Given the description of an element on the screen output the (x, y) to click on. 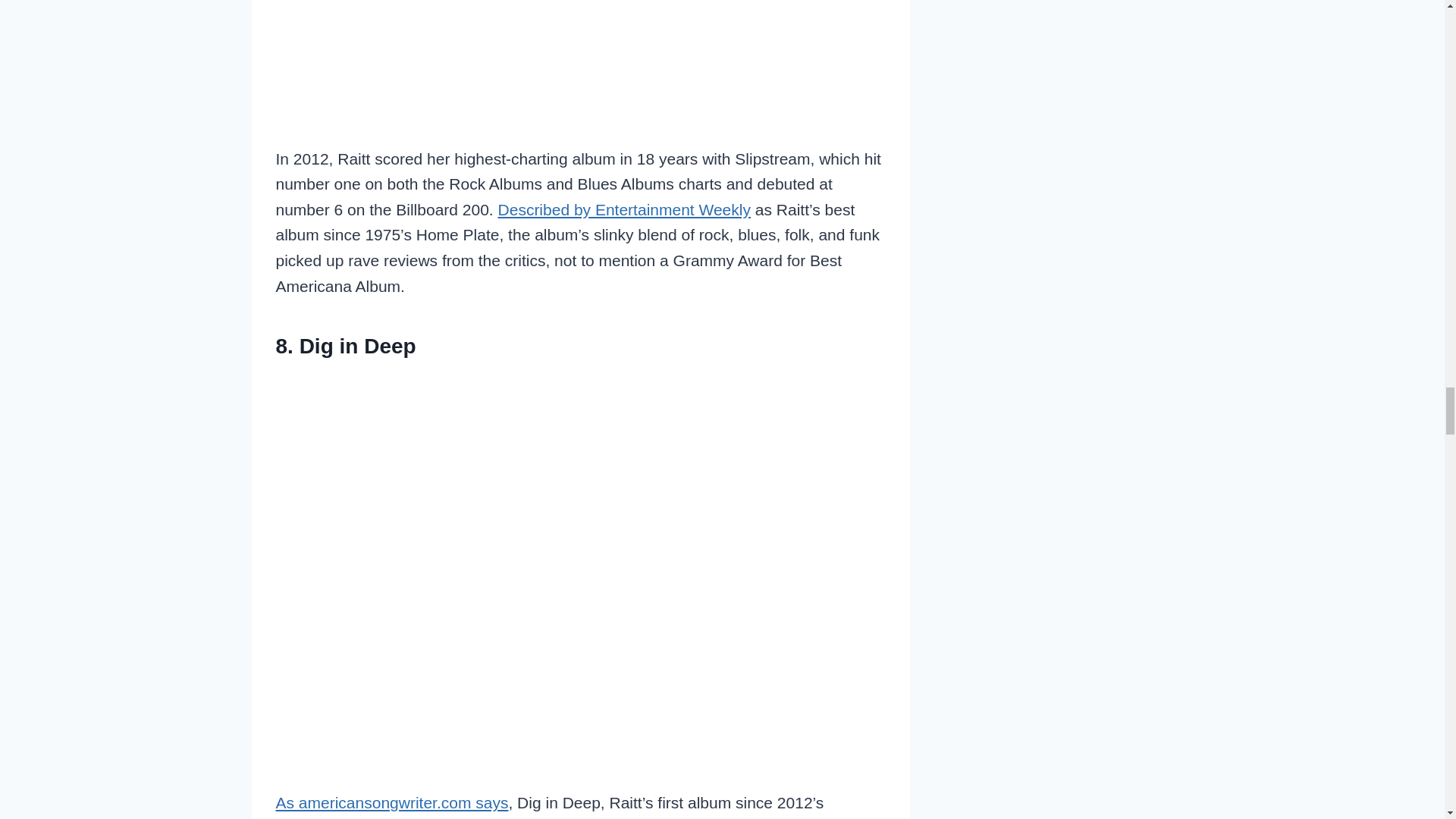
Described by Entertainment Weekly (624, 209)
As americansongwriter.com says (392, 802)
Used To Rule The World (581, 36)
